Given the description of an element on the screen output the (x, y) to click on. 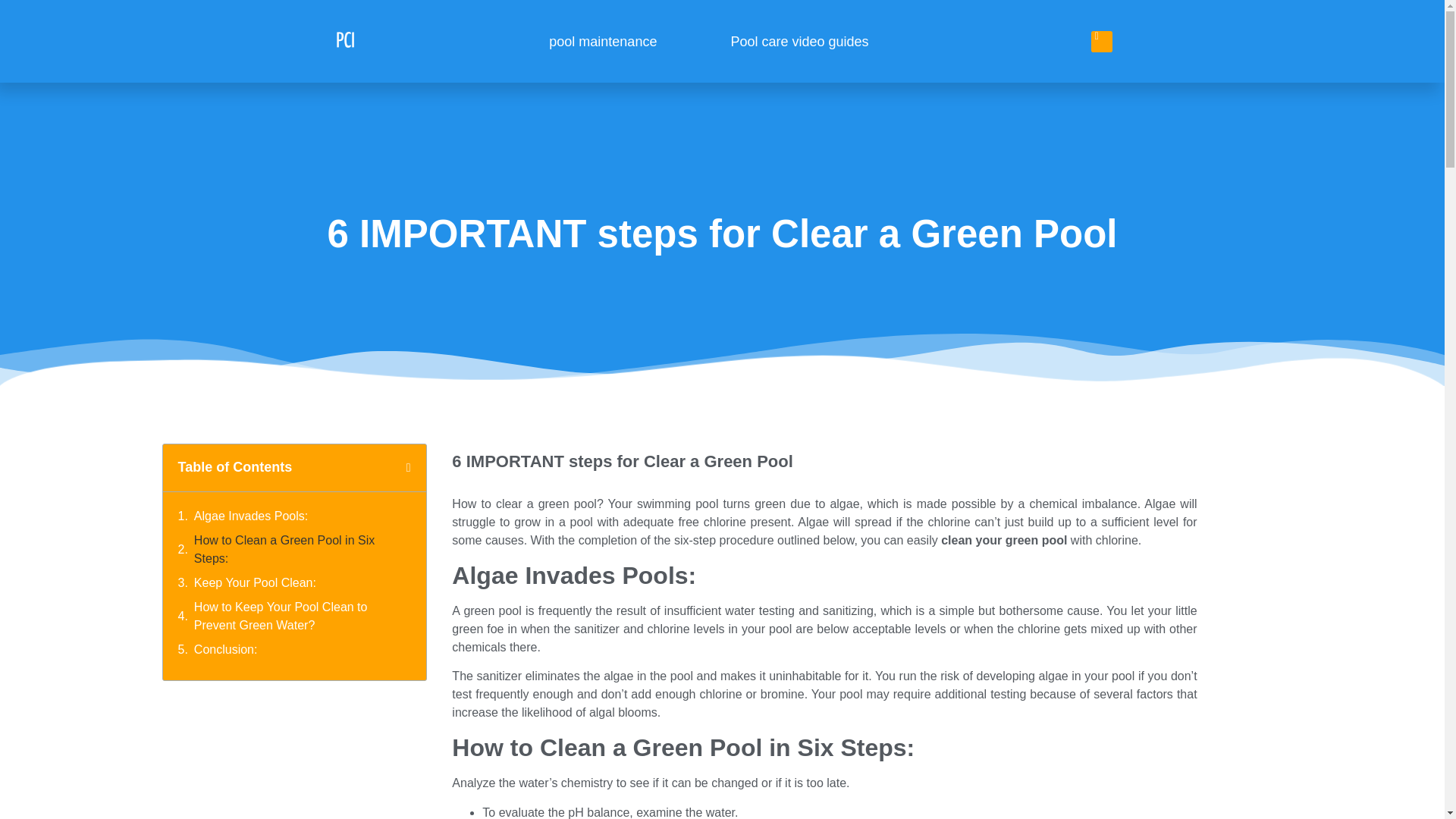
pool maintenance (602, 41)
Algae Invades Pools: (250, 515)
How to Keep Your Pool Clean to Prevent Green Water?  (301, 616)
How to Clean a Green Pool in Six Steps:  (301, 549)
Keep Your Pool Clean:  (255, 583)
Pool care video guides (798, 41)
Conclusion:  (226, 649)
